Given the description of an element on the screen output the (x, y) to click on. 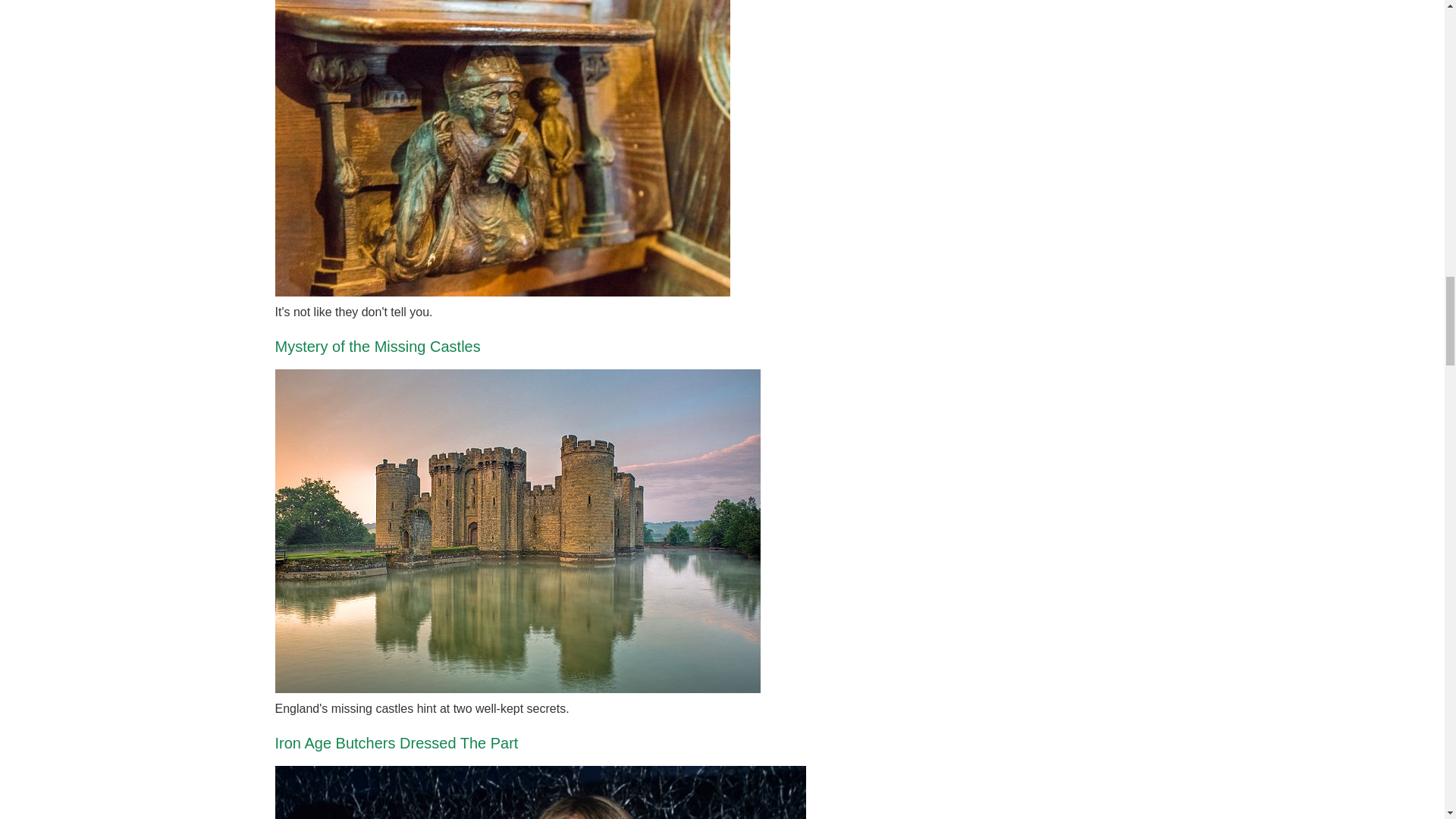
Mystery of the Missing Castles (377, 346)
Iron Age Butchers Dressed The Part (396, 742)
